Given the description of an element on the screen output the (x, y) to click on. 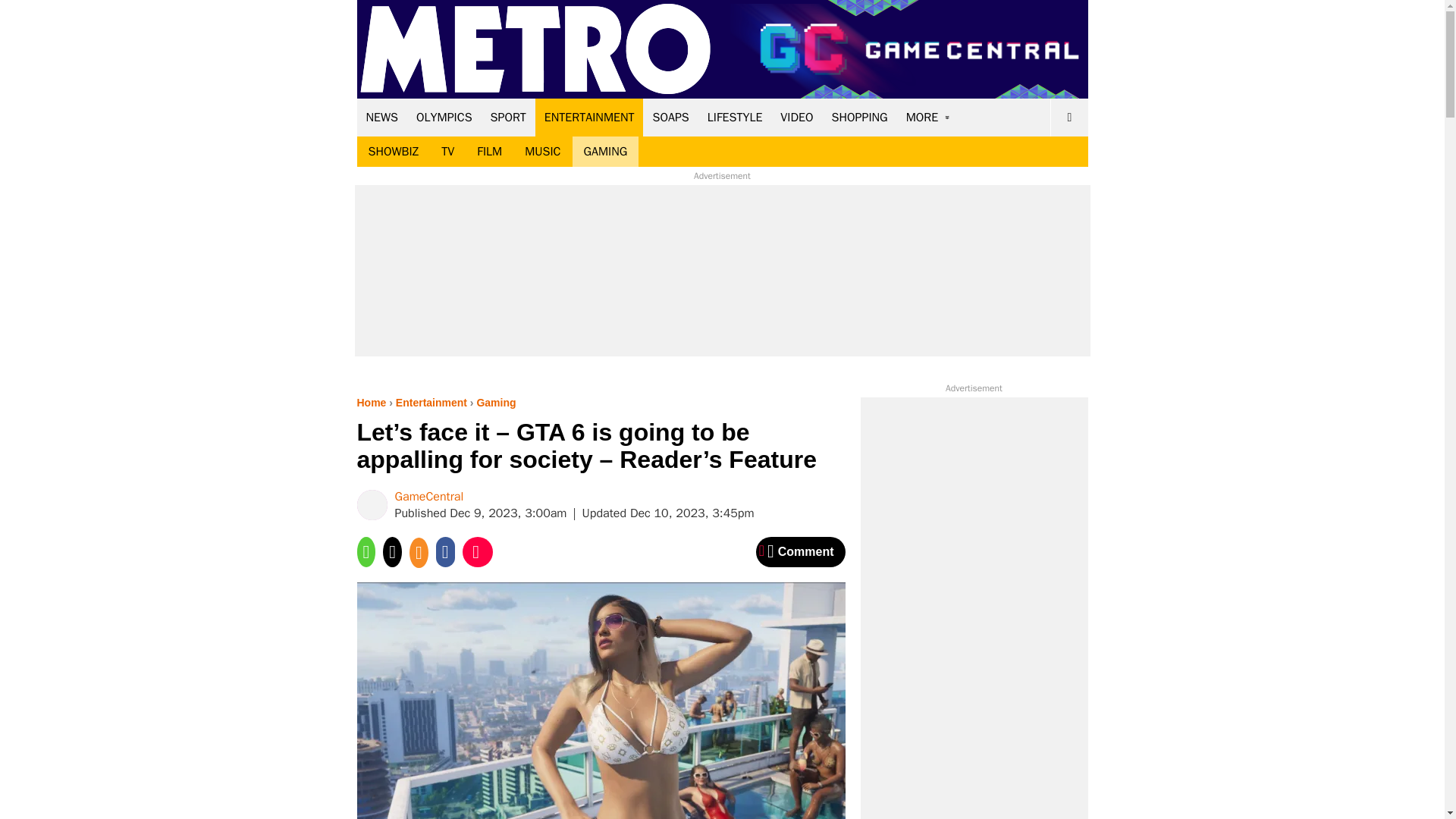
SOAPS (670, 117)
LIFESTYLE (734, 117)
NEWS (381, 117)
MUSIC (542, 151)
OLYMPICS (444, 117)
SPORT (508, 117)
FILM (489, 151)
SHOWBIZ (392, 151)
TV (447, 151)
GAMING (605, 151)
